Given the description of an element on the screen output the (x, y) to click on. 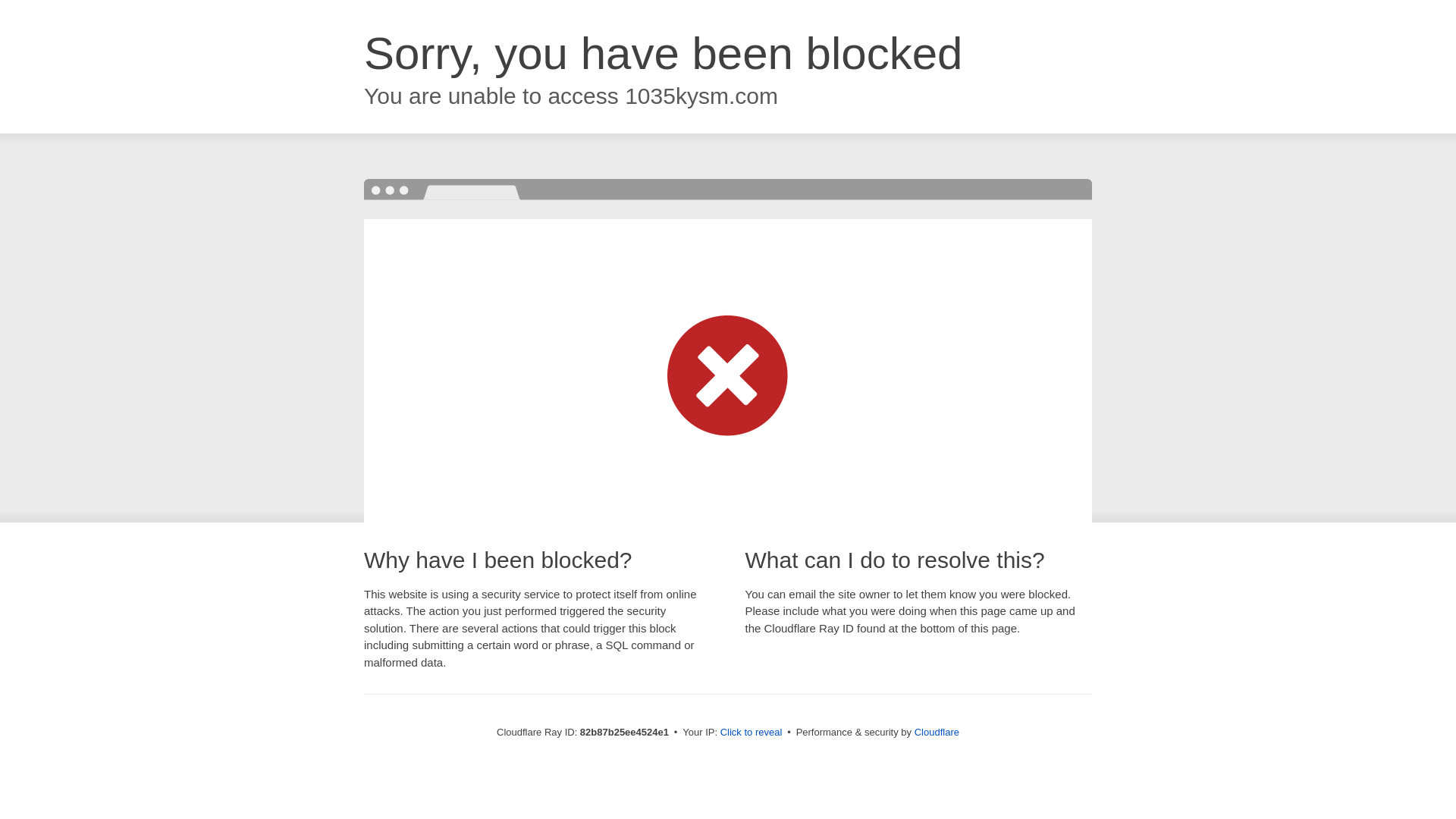
Cloudflare Element type: text (936, 731)
Click to reveal Element type: text (751, 732)
